Given the description of an element on the screen output the (x, y) to click on. 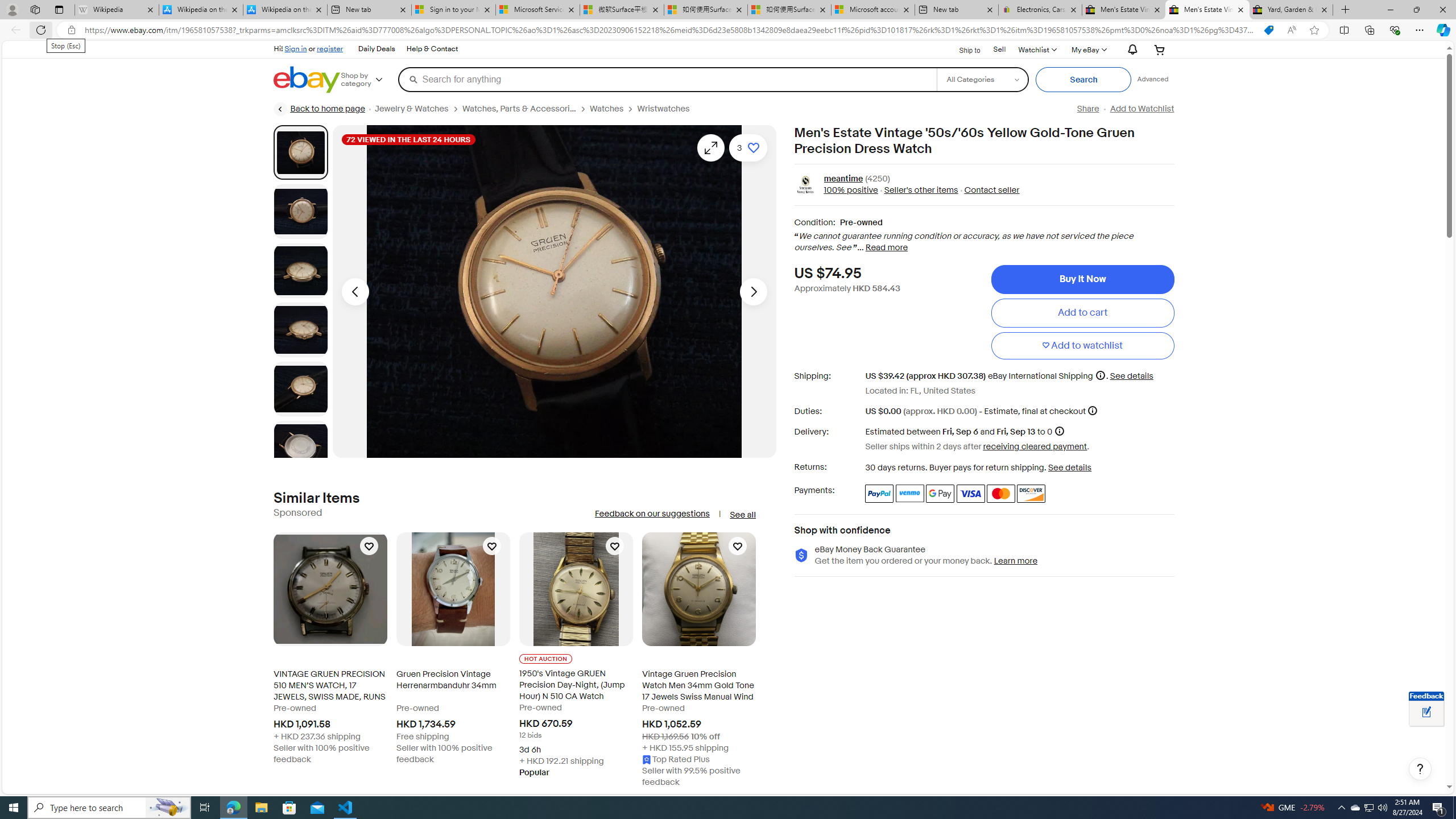
My eBayExpand My eBay (1088, 49)
Visa (970, 493)
Electronics, Cars, Fashion, Collectibles & More | eBay (1039, 9)
Watches (606, 108)
Add to watchlist (1082, 345)
Buy It Now (1082, 279)
Share (1087, 108)
